Given the description of an element on the screen output the (x, y) to click on. 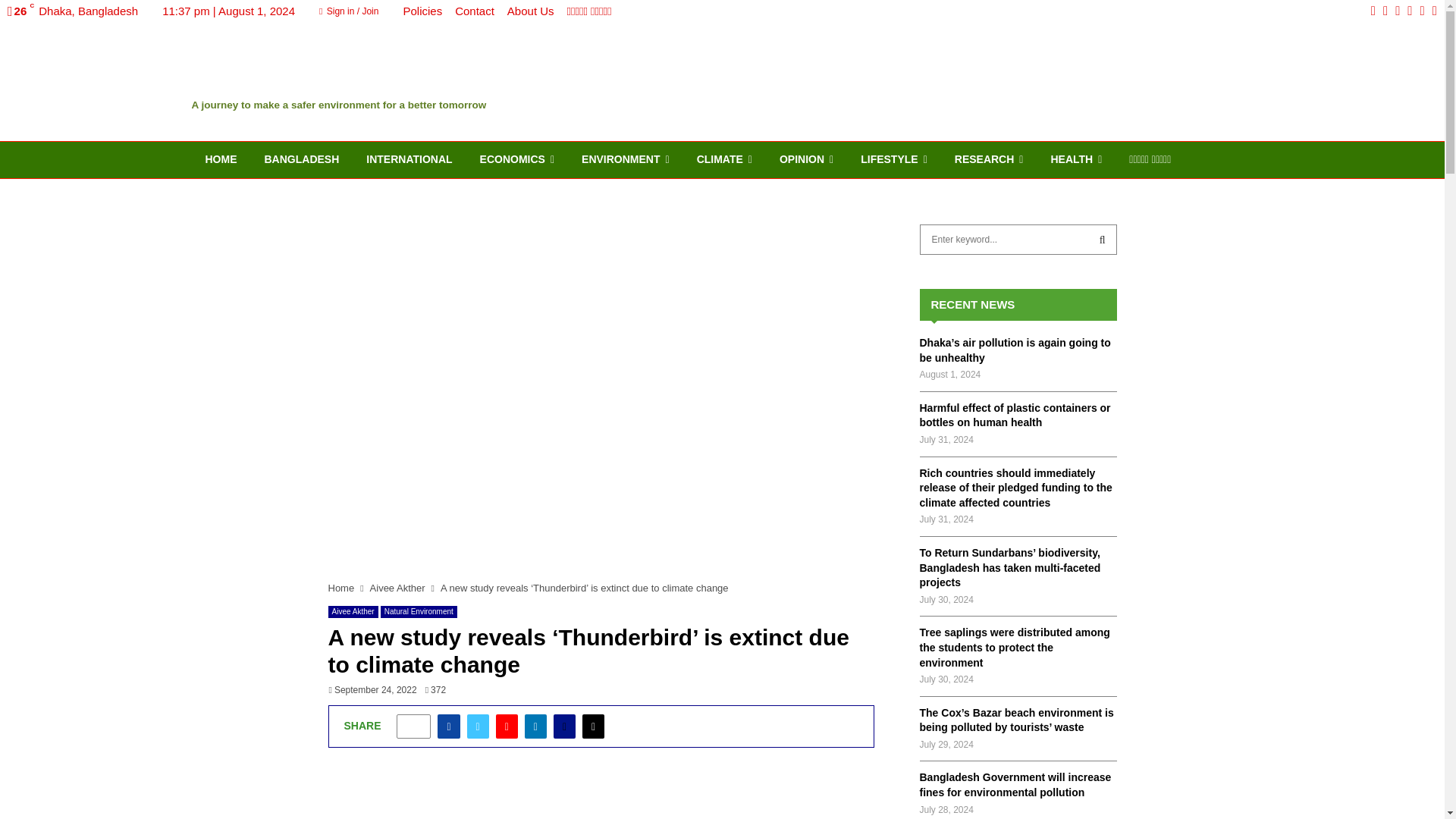
Policies (422, 11)
CLIMATE (723, 159)
BANGLADESH (301, 159)
Sign up new account (722, 415)
About Us (530, 11)
Contact (474, 11)
Login to your account (722, 293)
ECONOMICS (516, 159)
HOME (220, 159)
INTERNATIONAL (408, 159)
ENVIRONMENT (624, 159)
Like (413, 726)
Advertisement (976, 79)
OPINION (806, 159)
Advertisement (600, 799)
